Given the description of an element on the screen output the (x, y) to click on. 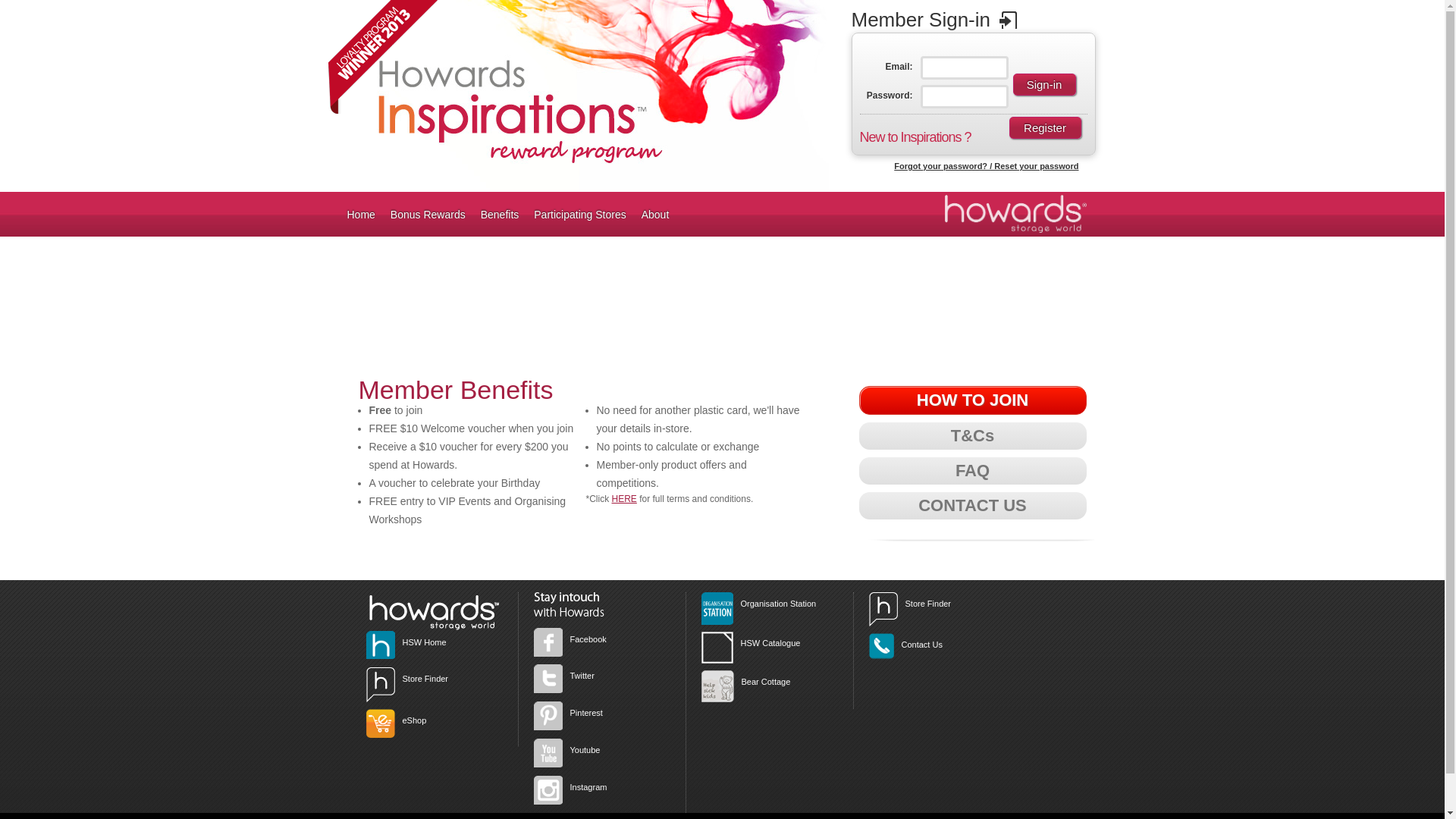
Contact Us Element type: text (920, 644)
Pinterest Element type: text (586, 712)
Twitter Element type: text (582, 675)
HOW TO JOIN Element type: text (971, 399)
CONTACT US Element type: text (971, 505)
Bear Cottage Element type: text (765, 681)
eShop Element type: text (413, 719)
T&Cs Element type: text (971, 435)
Instagram Element type: text (588, 786)
Youtube Element type: text (585, 749)
Facebook Element type: text (588, 638)
Bonus Rewards Element type: text (427, 214)
Sign-in Element type: text (1044, 84)
Store Finder Element type: text (424, 678)
Participating Stores Element type: text (579, 214)
Benefits Element type: text (499, 214)
HSW Catalogue Element type: text (770, 642)
Store Finder Element type: text (928, 603)
HERE Element type: text (624, 498)
Forgot your password? / Reset your password Element type: text (986, 166)
About Element type: text (655, 214)
Organisation Station Element type: text (777, 603)
HSW Home Element type: text (423, 641)
Home Element type: text (360, 214)
FAQ Element type: text (971, 470)
